Given the description of an element on the screen output the (x, y) to click on. 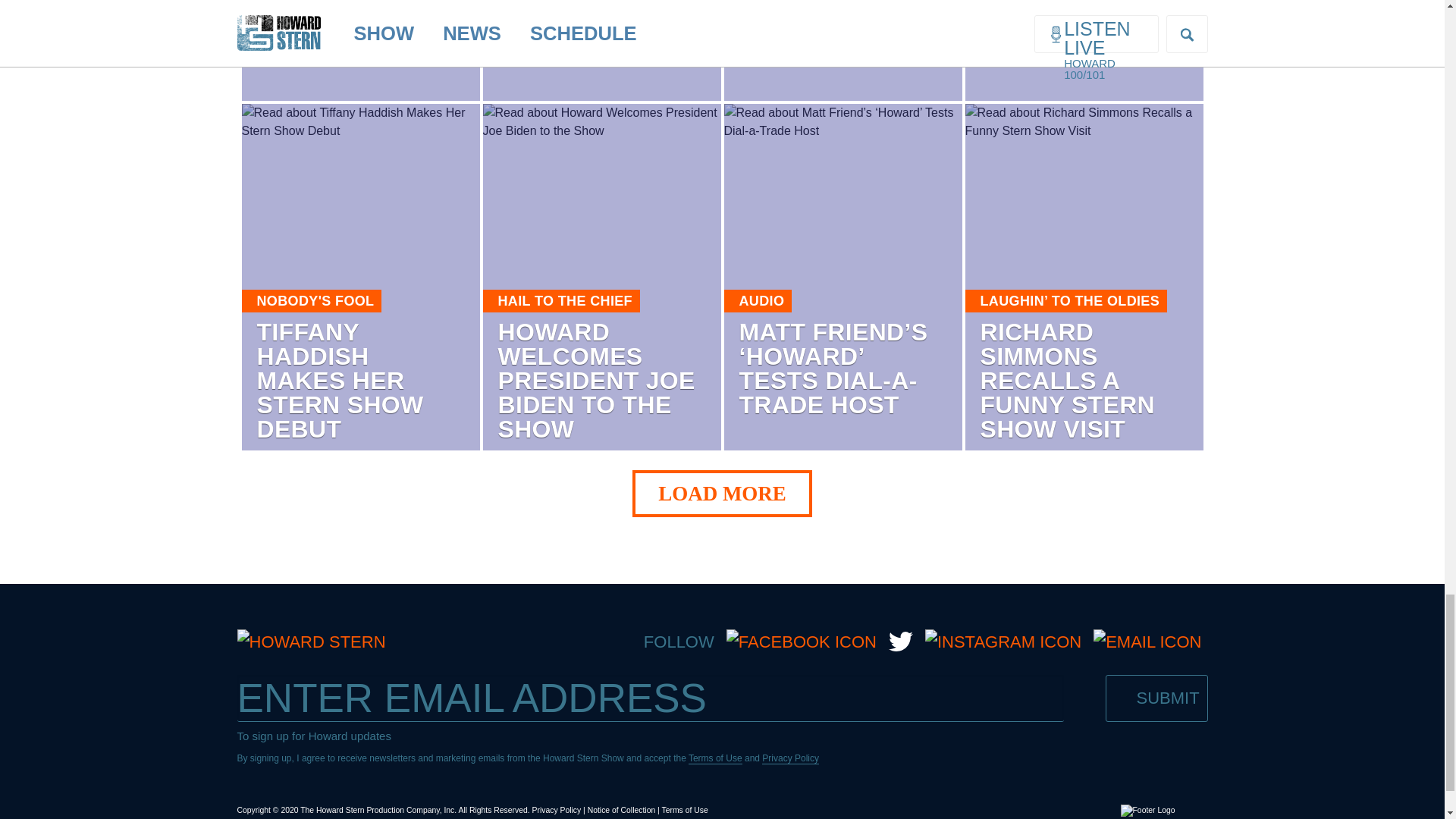
JELLY ROLL MAKES HIS STERN SHOW DEBUT (339, 34)
